Given the description of an element on the screen output the (x, y) to click on. 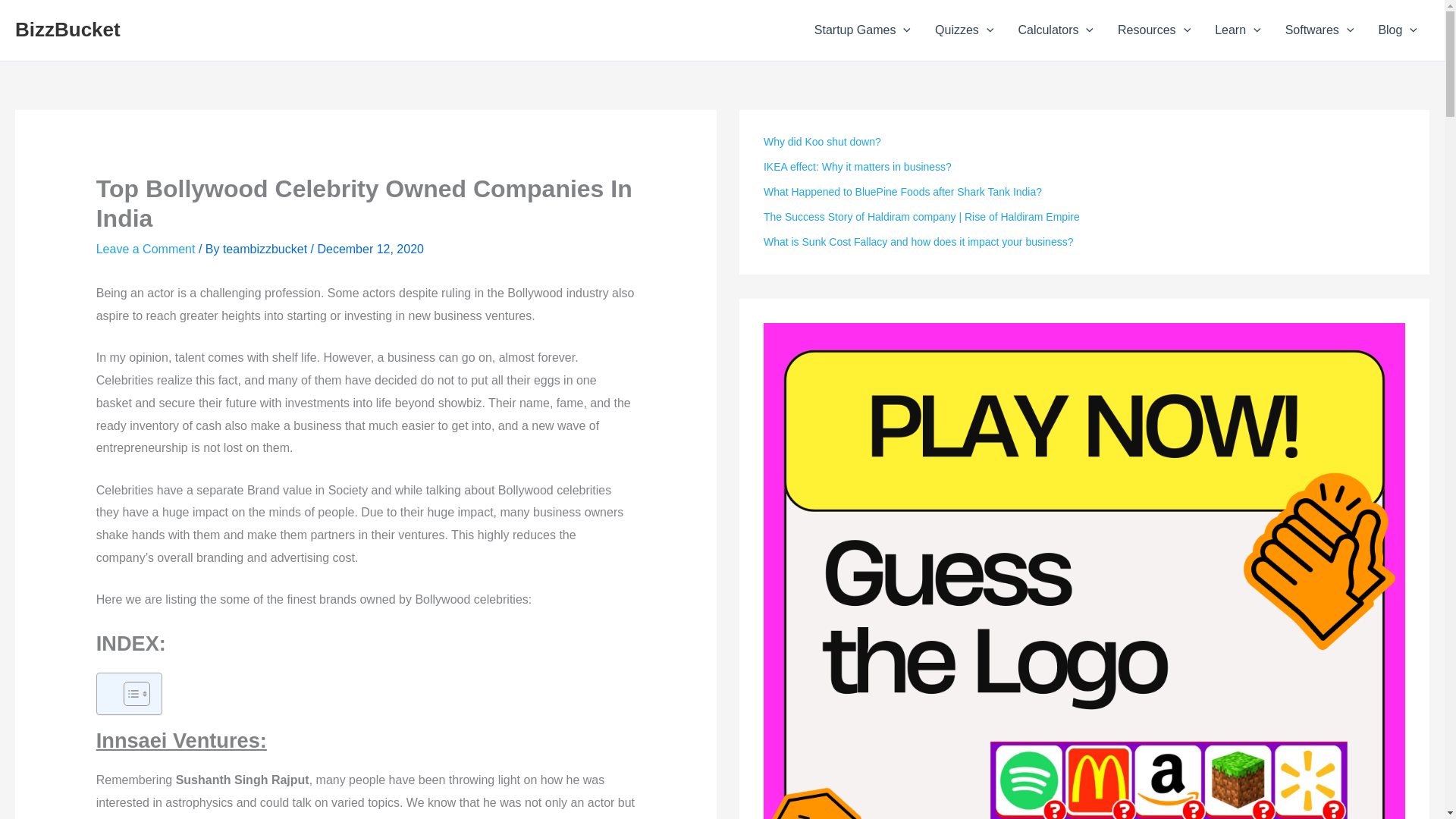
Learn (1237, 30)
Startup Games (862, 30)
Resources (1153, 30)
BizzBucket (67, 29)
Quizzes (964, 30)
View all posts by teambizzbucket (264, 248)
Softwares (1319, 30)
Blog (1397, 30)
Calculators (1055, 30)
